Given the description of an element on the screen output the (x, y) to click on. 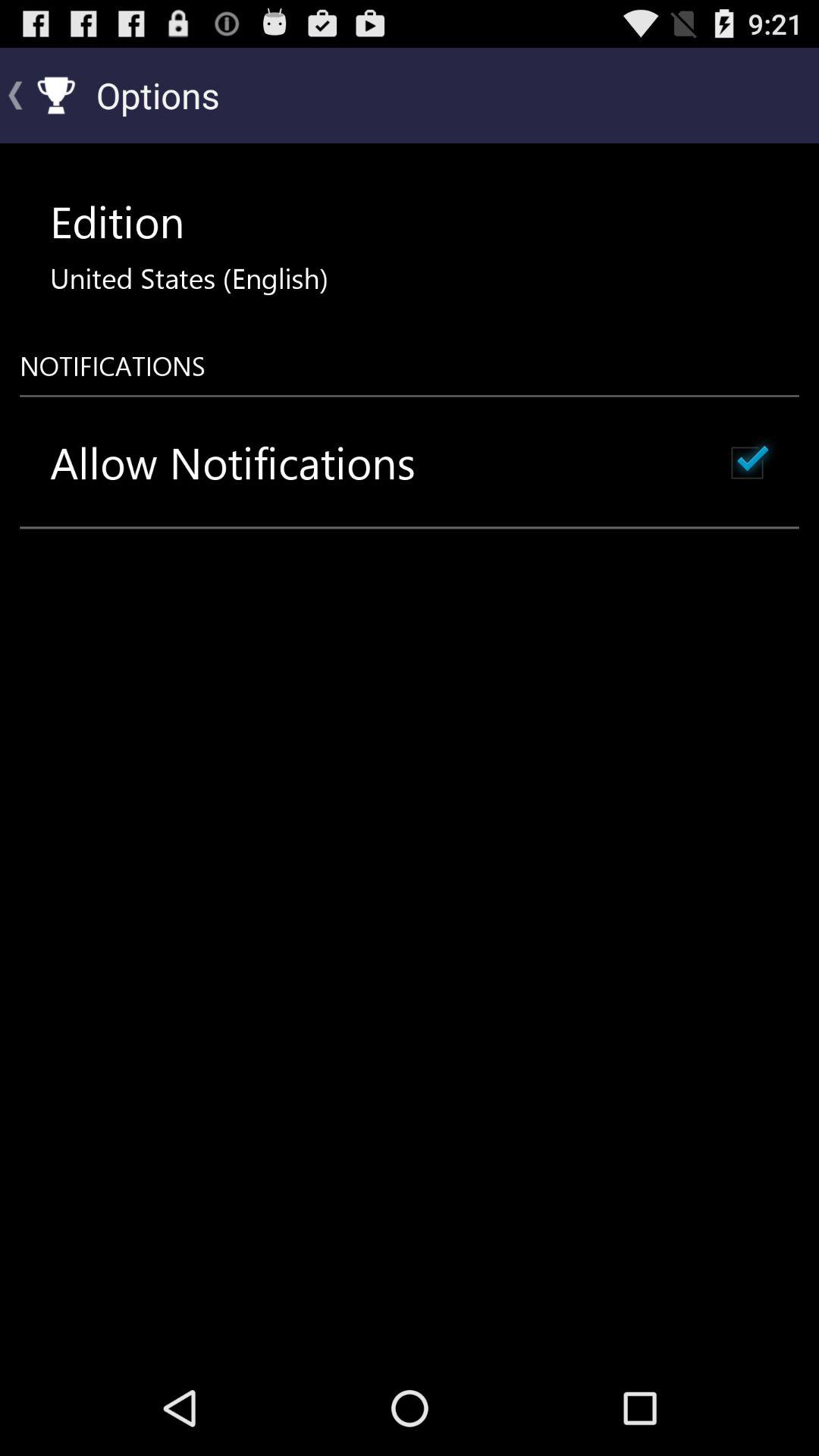
launch icon next to the allow notifications icon (747, 462)
